Given the description of an element on the screen output the (x, y) to click on. 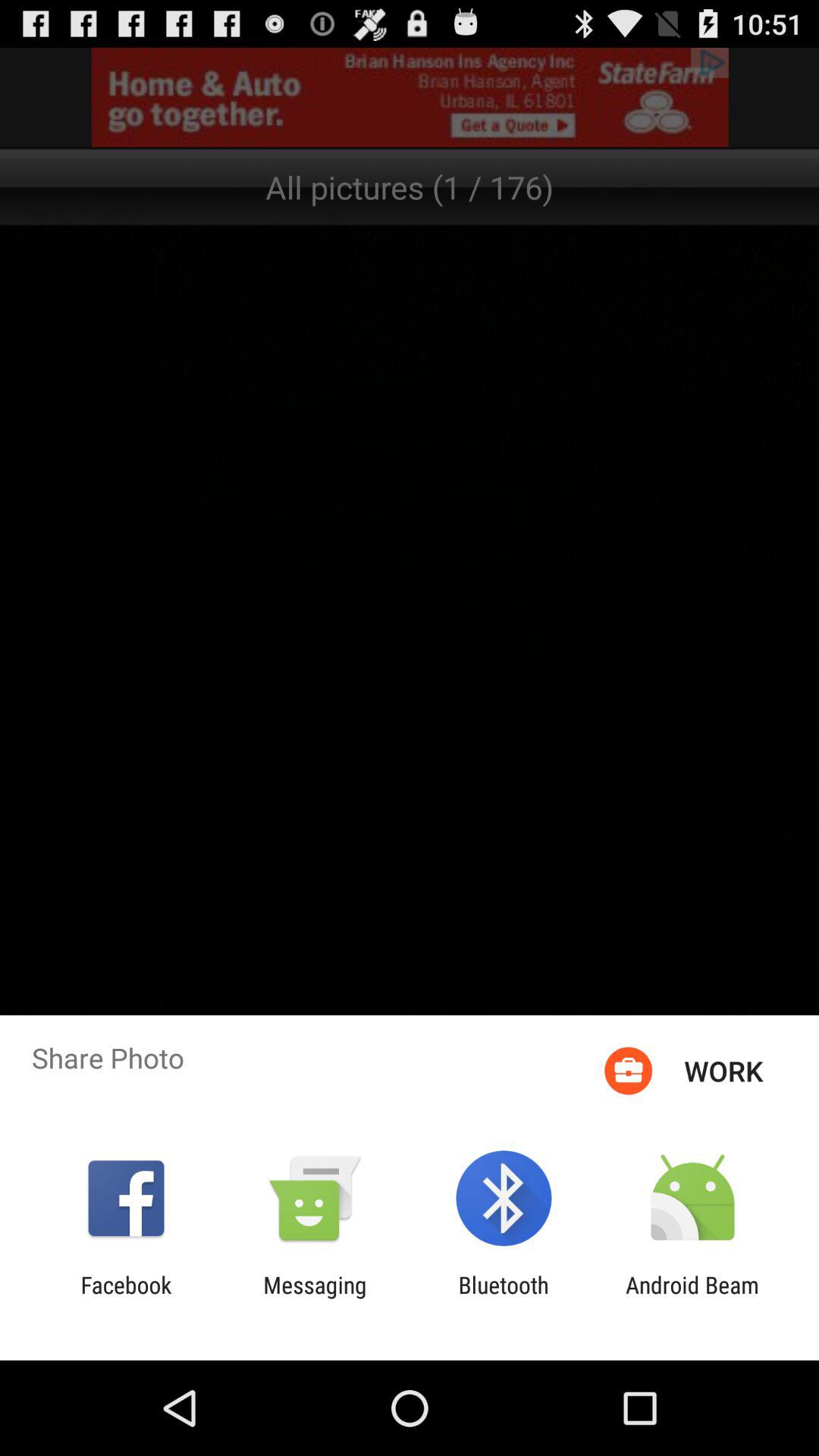
open the item next to the messaging item (125, 1298)
